Given the description of an element on the screen output the (x, y) to click on. 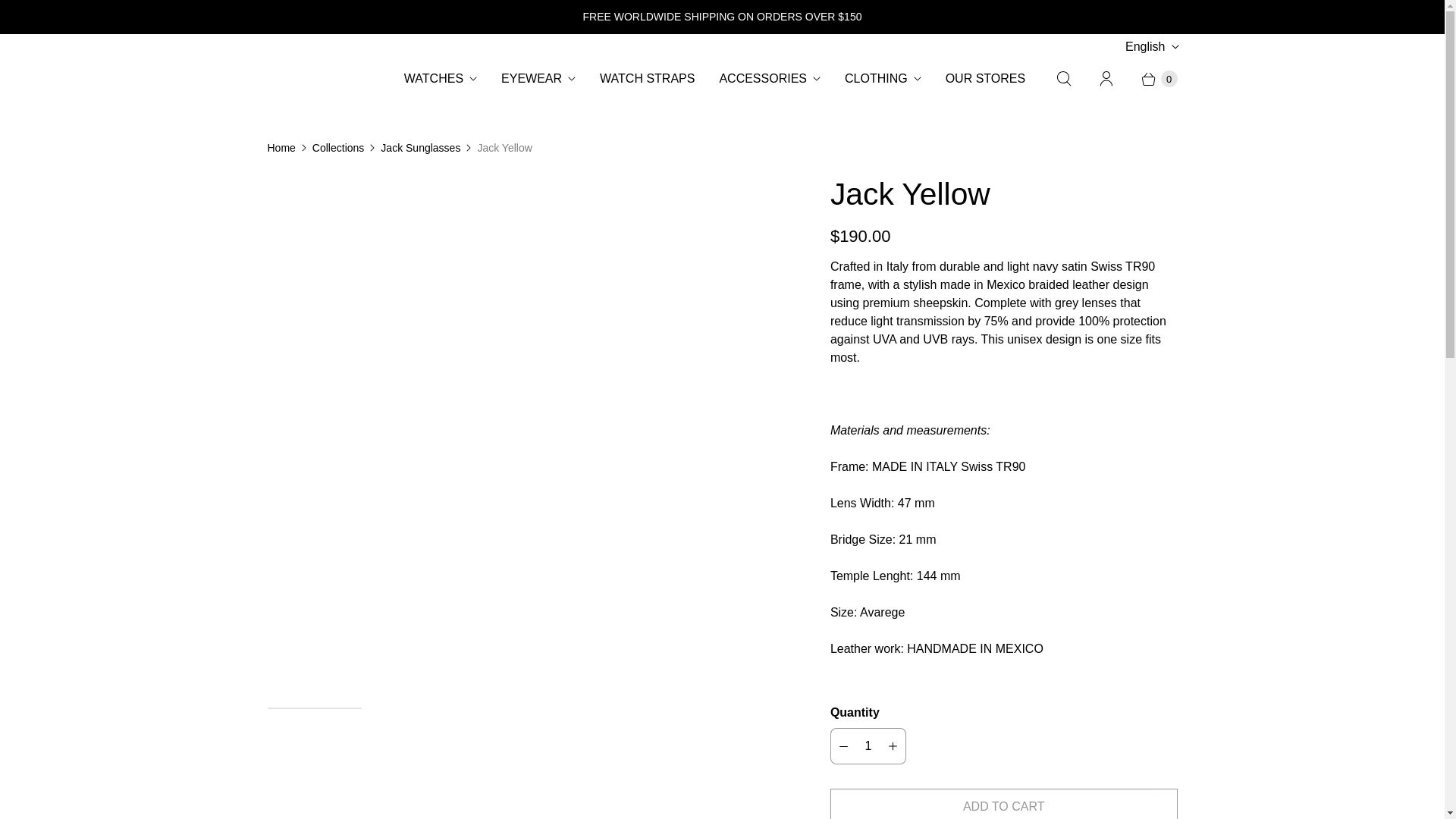
English (1151, 46)
Jack Yellow (133, 183)
Jack Yellow (526, 183)
